Given the description of an element on the screen output the (x, y) to click on. 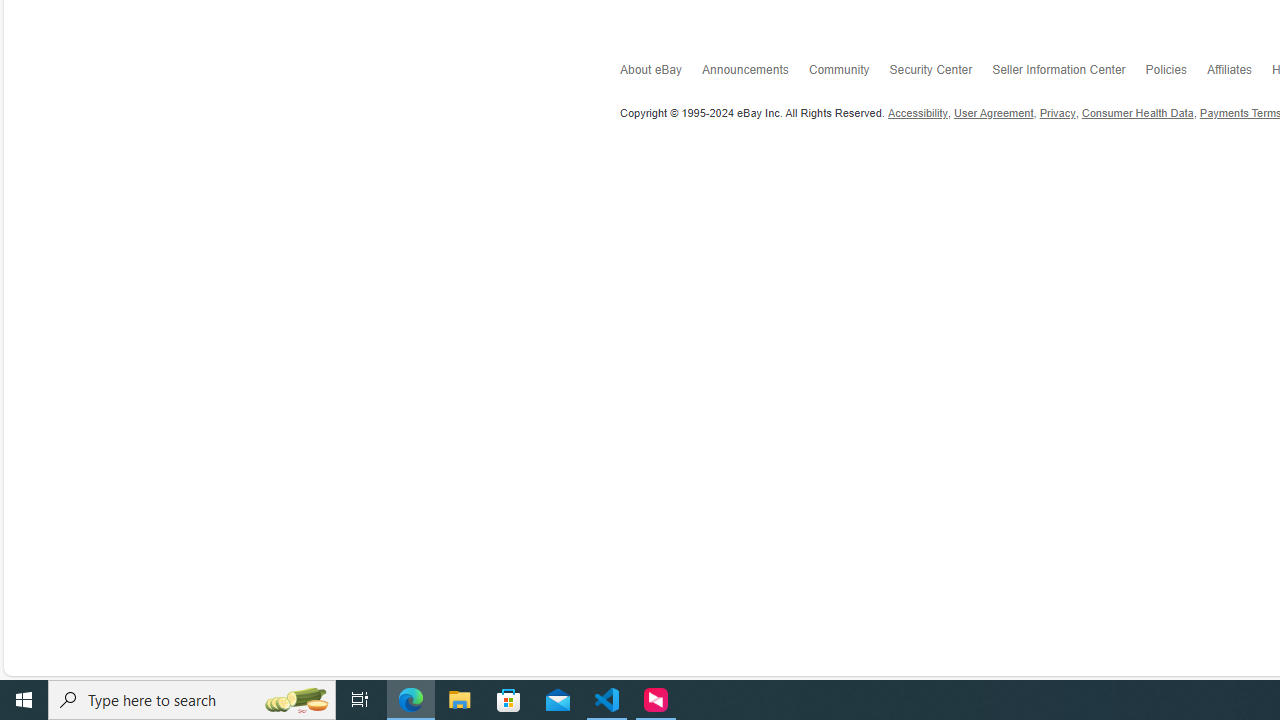
Community (848, 74)
Privacy (1057, 113)
Consumer Health Data (1137, 113)
